Given the description of an element on the screen output the (x, y) to click on. 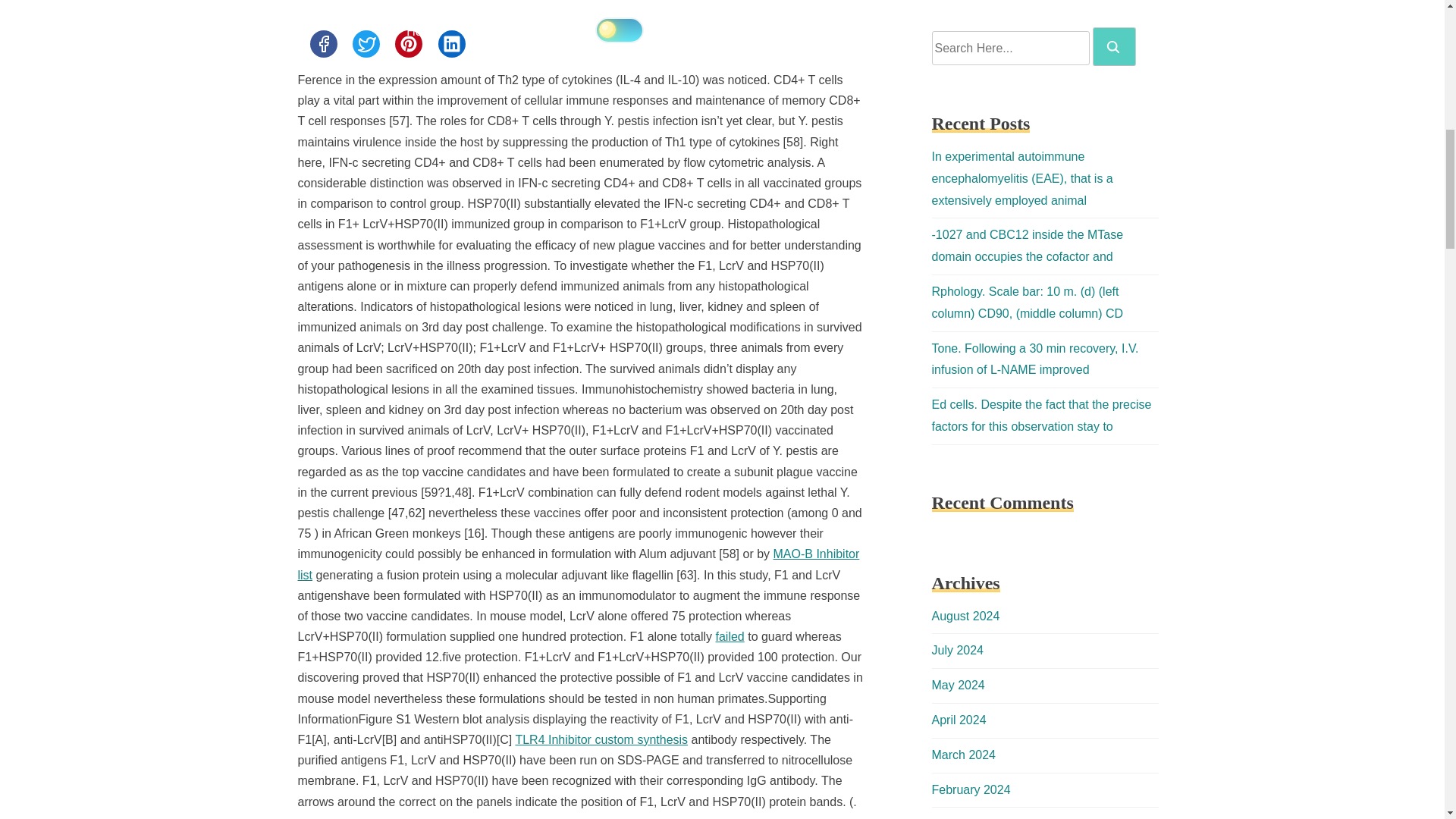
failed (729, 635)
MAO-B Inhibitor list (578, 563)
Share this post on Twitter (366, 43)
Search (1114, 46)
Share this post on Pinterest (408, 43)
Share this post on Facebook (322, 43)
Share this post on Linkedin (451, 43)
Search (1113, 46)
TLR4 Inhibitor custom synthesis (601, 739)
